Given the description of an element on the screen output the (x, y) to click on. 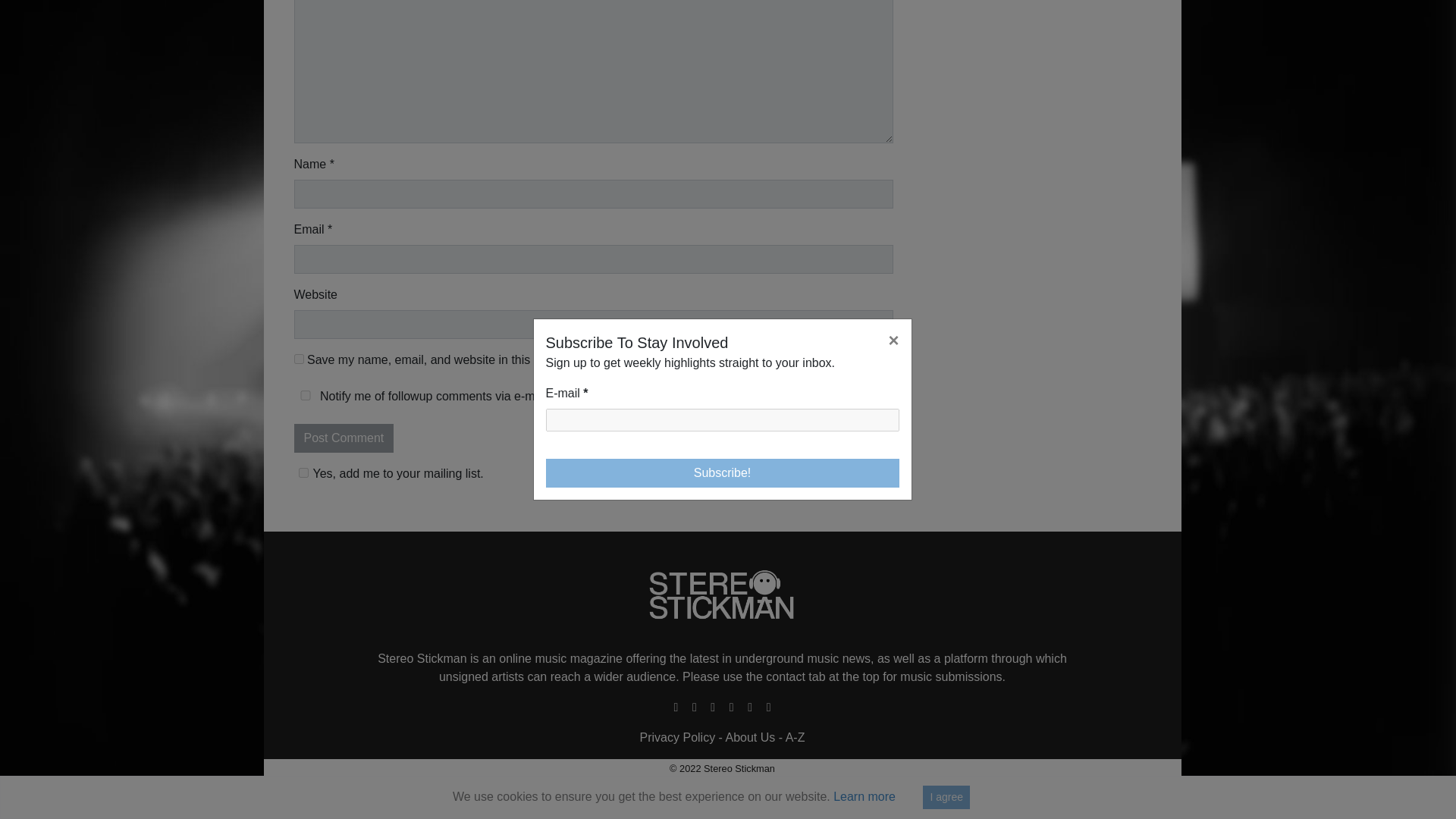
Post Comment (344, 438)
